Given the description of an element on the screen output the (x, y) to click on. 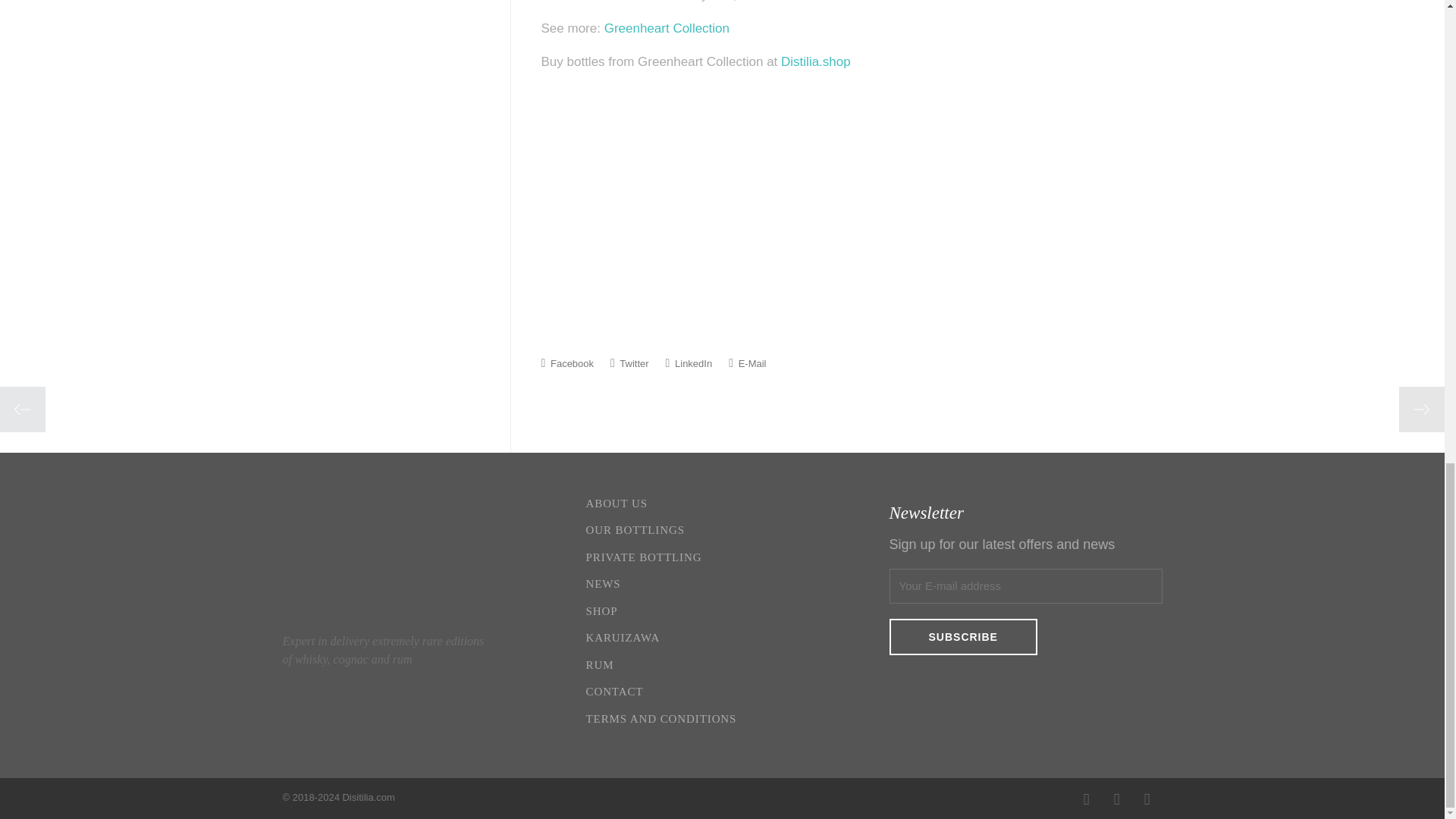
Twitter (629, 362)
Share via E-Mail (747, 362)
Share via LinkedIn (689, 362)
Share via Twitter (629, 362)
LinkedIn (689, 362)
E-Mail (747, 362)
YouTube (1146, 798)
Distilia.shop (815, 61)
Instagram (1115, 798)
Greenheart Collection (666, 28)
